Given the description of an element on the screen output the (x, y) to click on. 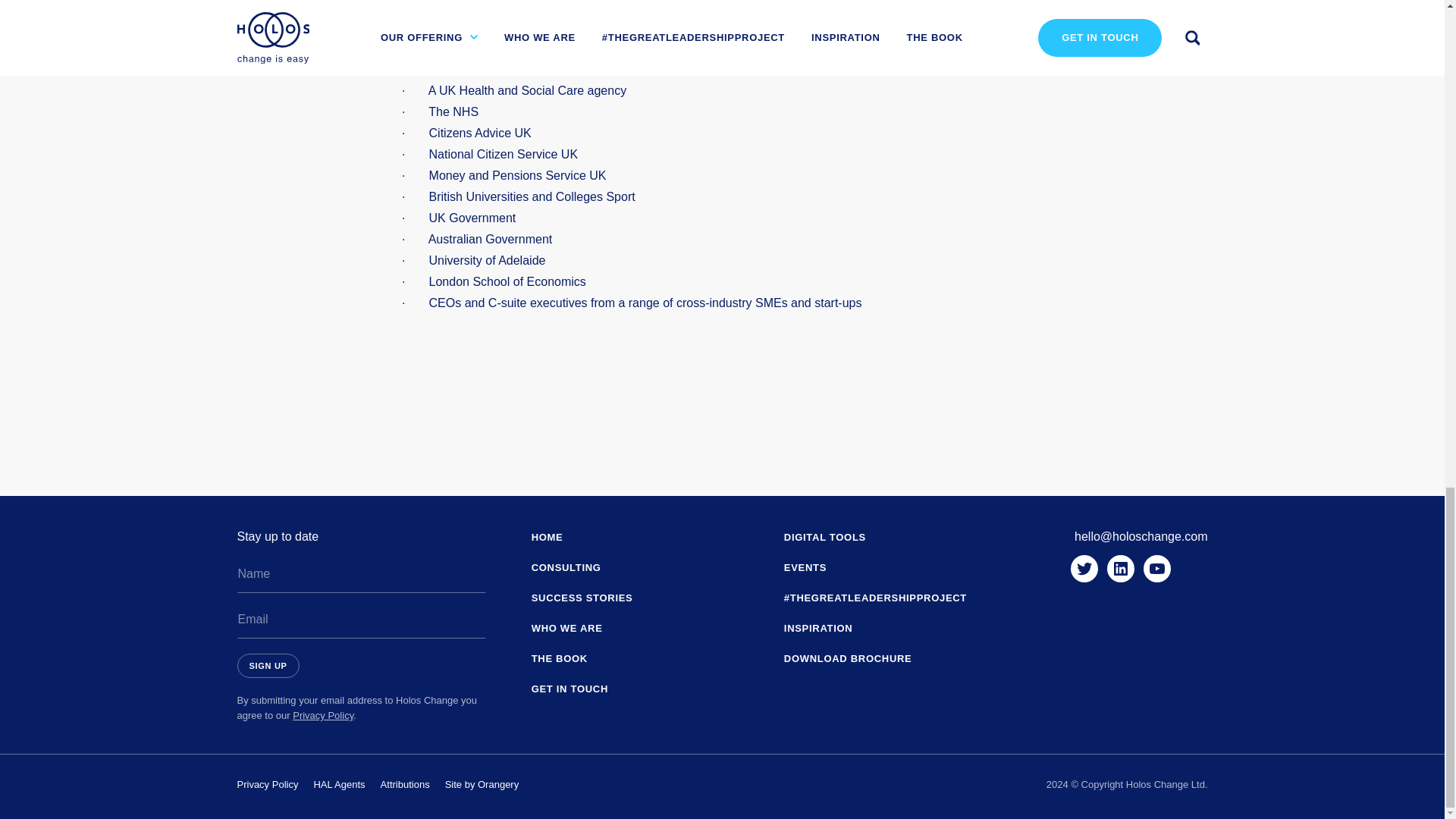
SIGN UP (266, 665)
HOME (547, 537)
DOWNLOAD BROCHURE (848, 658)
DIGITAL TOOLS (825, 537)
Twitter (1083, 568)
INSPIRATION (818, 628)
Attributions (405, 784)
SUCCESS STORIES (582, 598)
WHO WE ARE (566, 628)
YouTube (1156, 568)
